Given the description of an element on the screen output the (x, y) to click on. 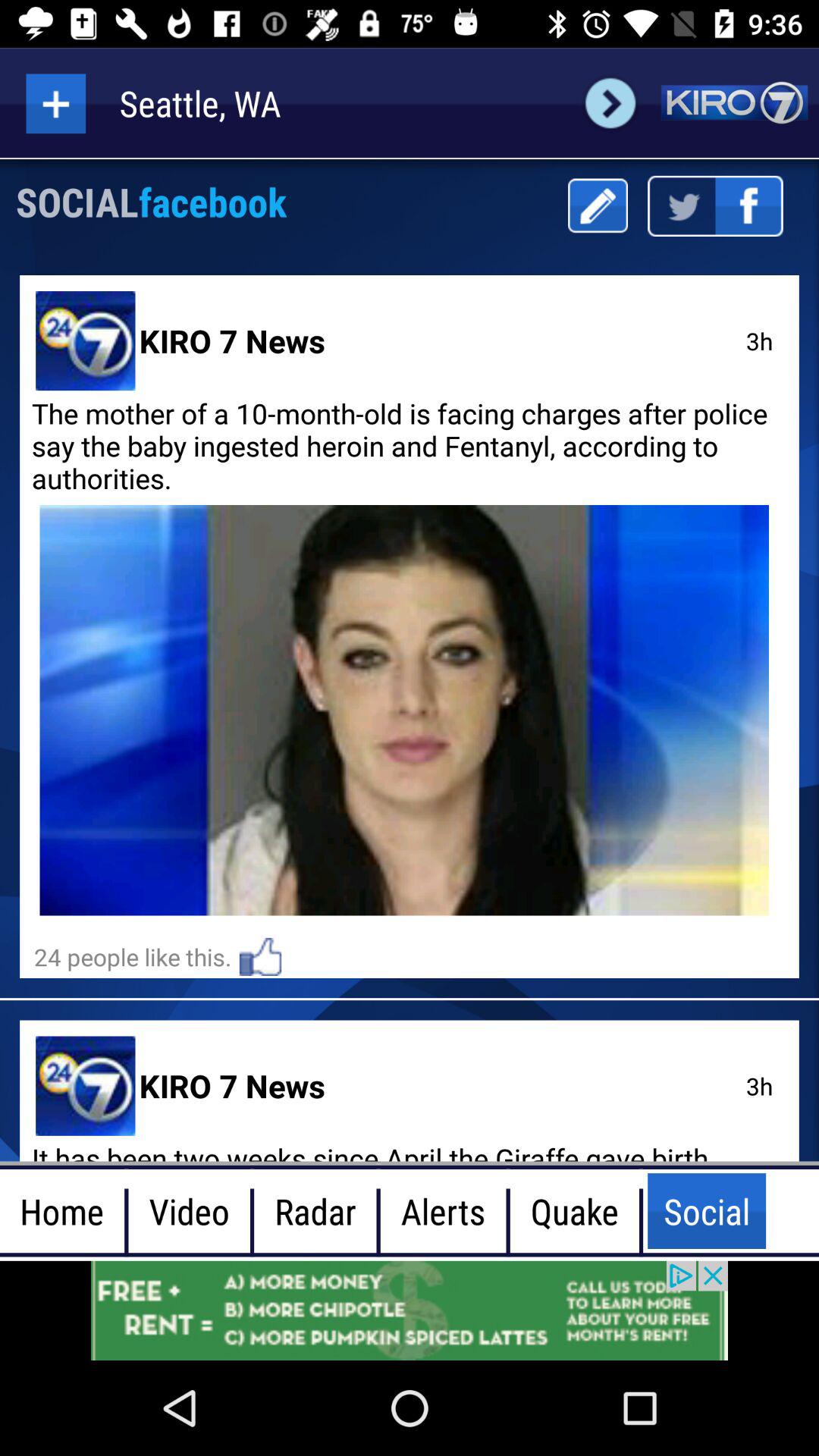
click to next option (610, 103)
